Given the description of an element on the screen output the (x, y) to click on. 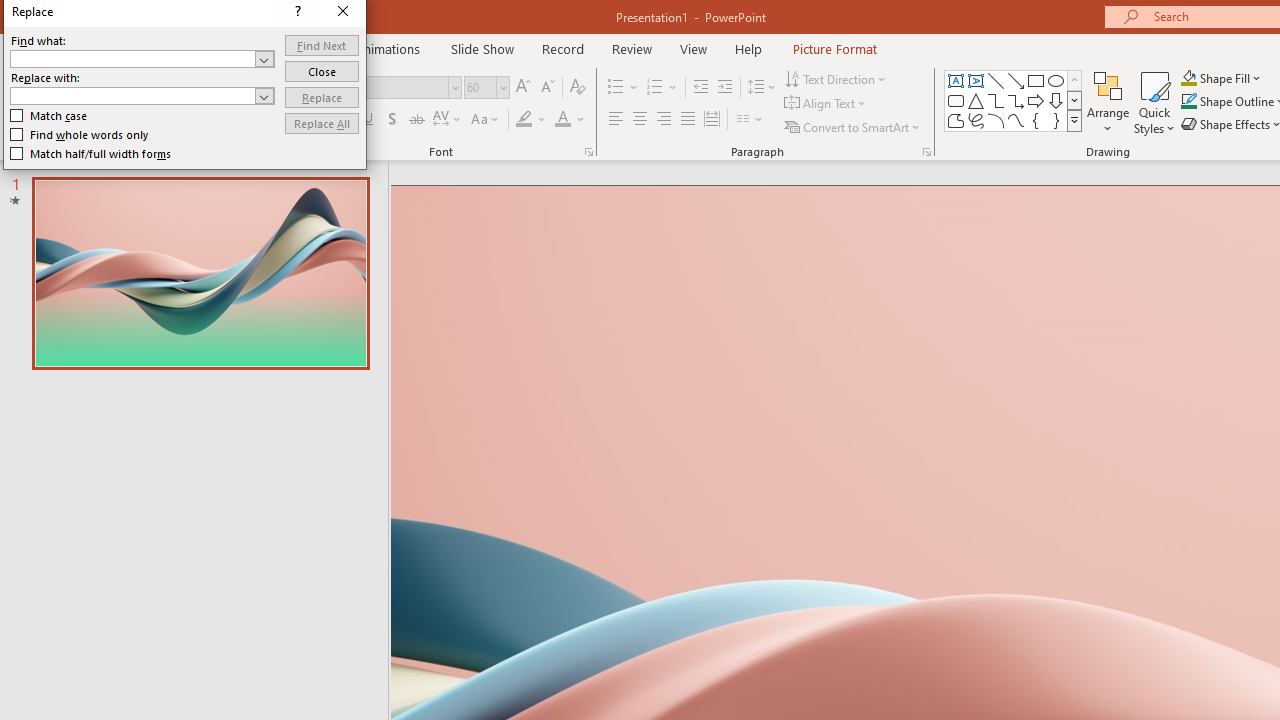
Find what (657, 411)
